Given the description of an element on the screen output the (x, y) to click on. 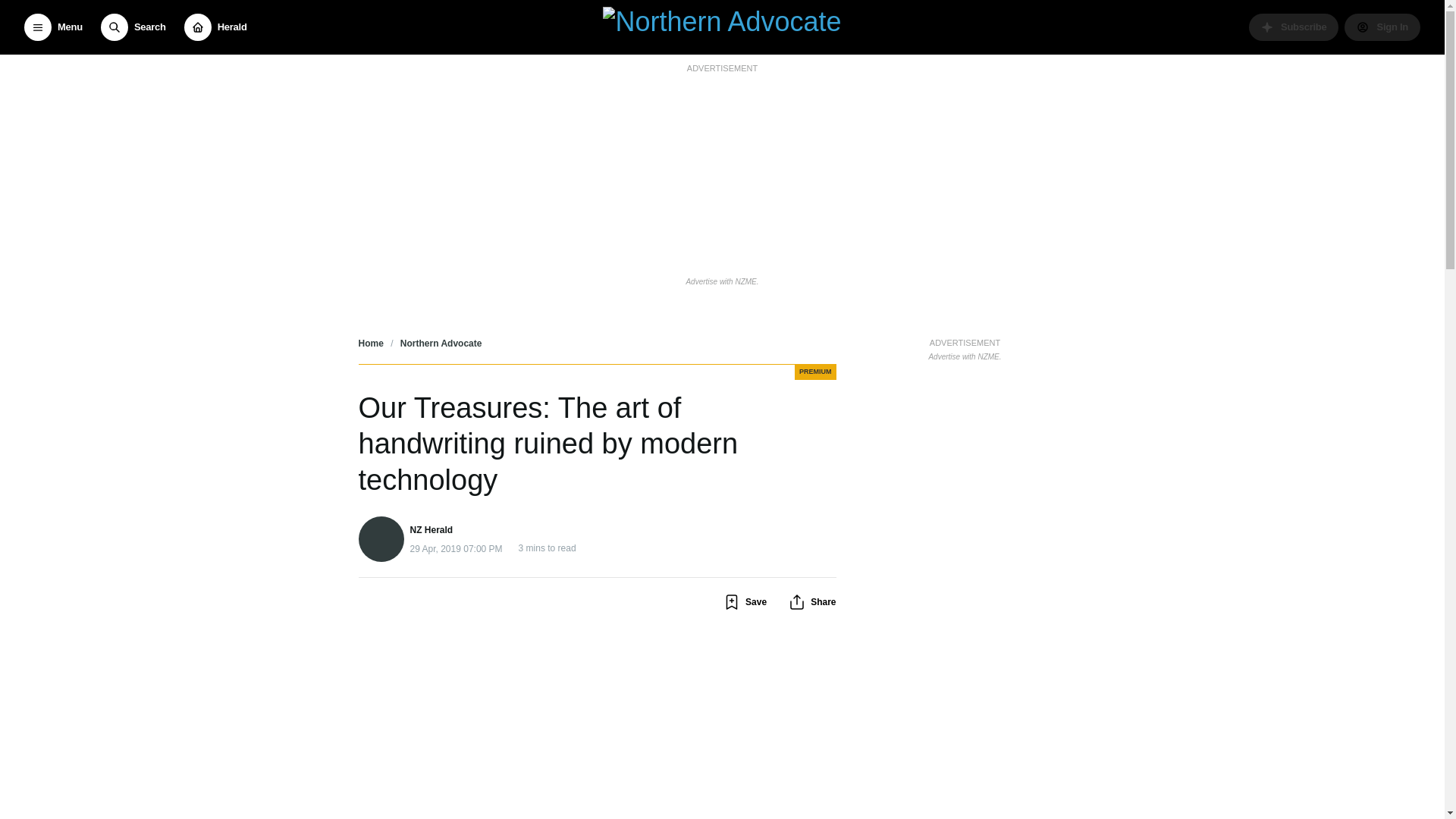
Advertise with NZME. (721, 281)
Sign In (1382, 26)
Menu (53, 26)
Save (744, 601)
Manage your account (1382, 26)
Northern Advocate (440, 343)
Home (370, 343)
Search (132, 26)
Herald (215, 26)
Subscribe (1294, 26)
